Given the description of an element on the screen output the (x, y) to click on. 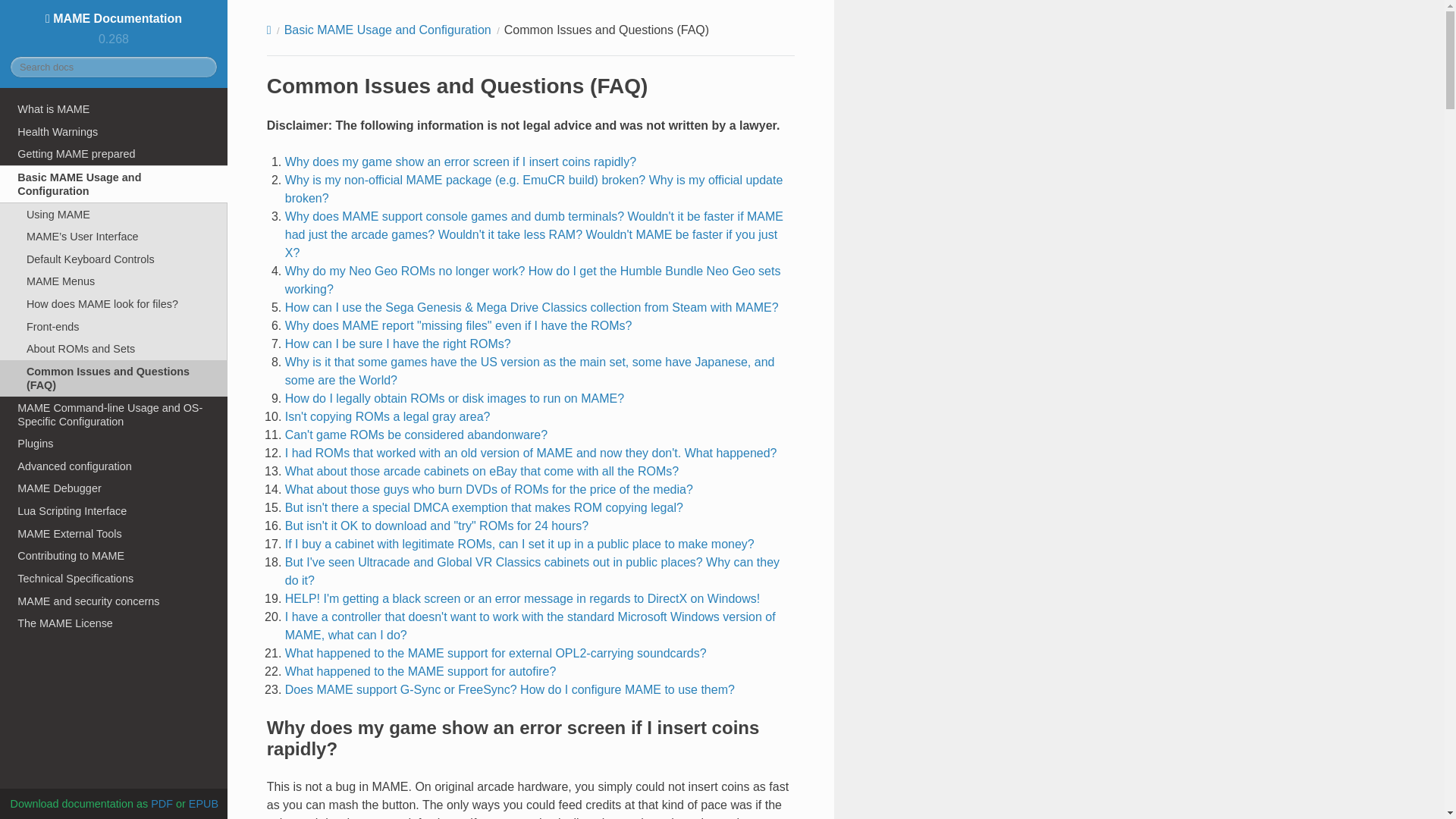
How does MAME look for files? (113, 303)
Isn't copying ROMs a legal gray area? (387, 416)
Technical Specifications (113, 578)
Basic MAME Usage and Configuration (113, 184)
Getting MAME prepared (113, 153)
MAME Command-line Usage and OS-Specific Configuration (113, 414)
MAME External Tools (113, 533)
What is MAME (113, 108)
How can I be sure I have the right ROMs? (398, 343)
Front-ends (113, 326)
Lua Scripting Interface (113, 510)
